Given the description of an element on the screen output the (x, y) to click on. 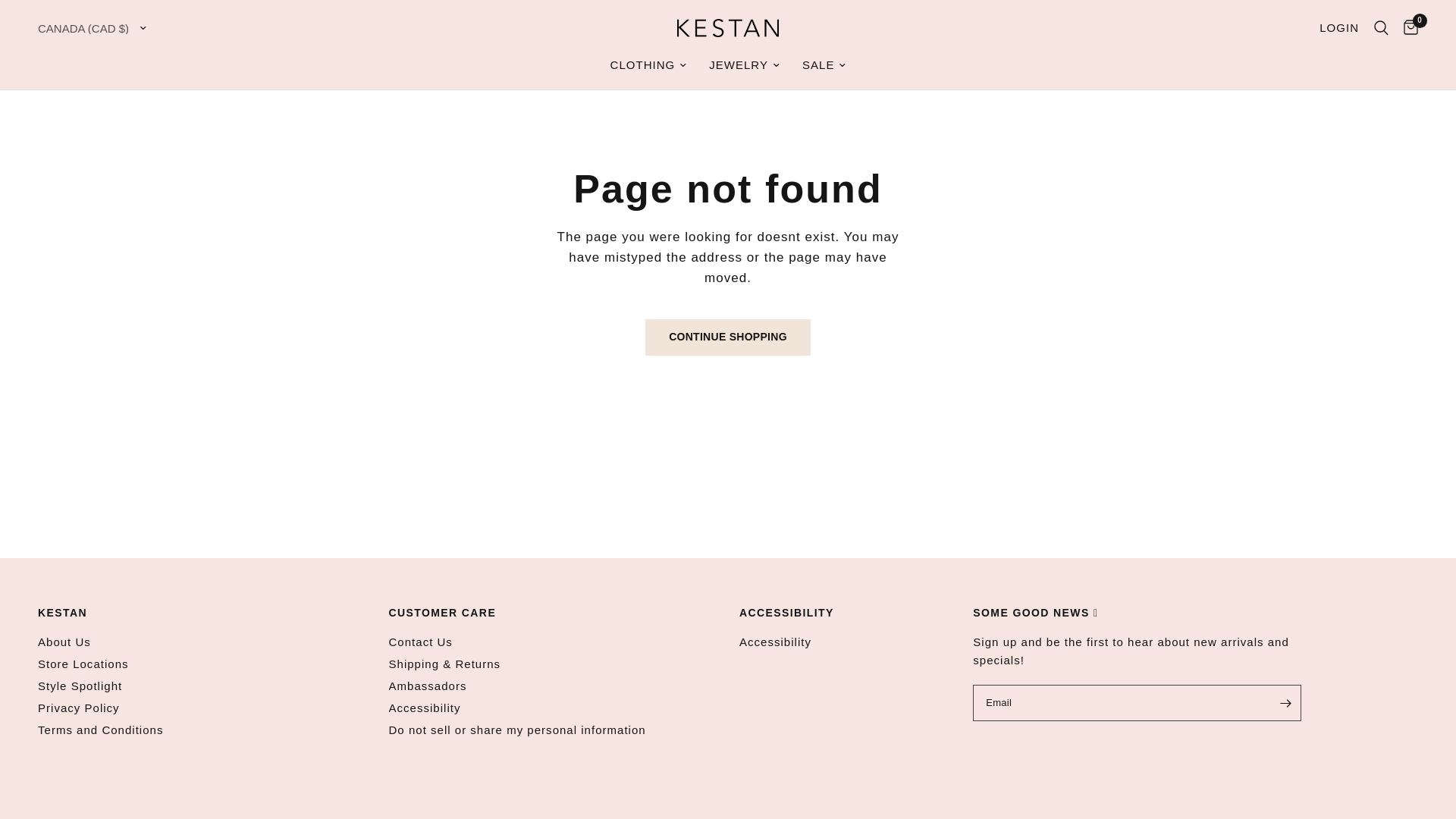
0 (1407, 27)
CLOTHING (648, 65)
My Account (1339, 27)
LOGIN (1339, 27)
About Us (63, 641)
Search (1381, 27)
